Given the description of an element on the screen output the (x, y) to click on. 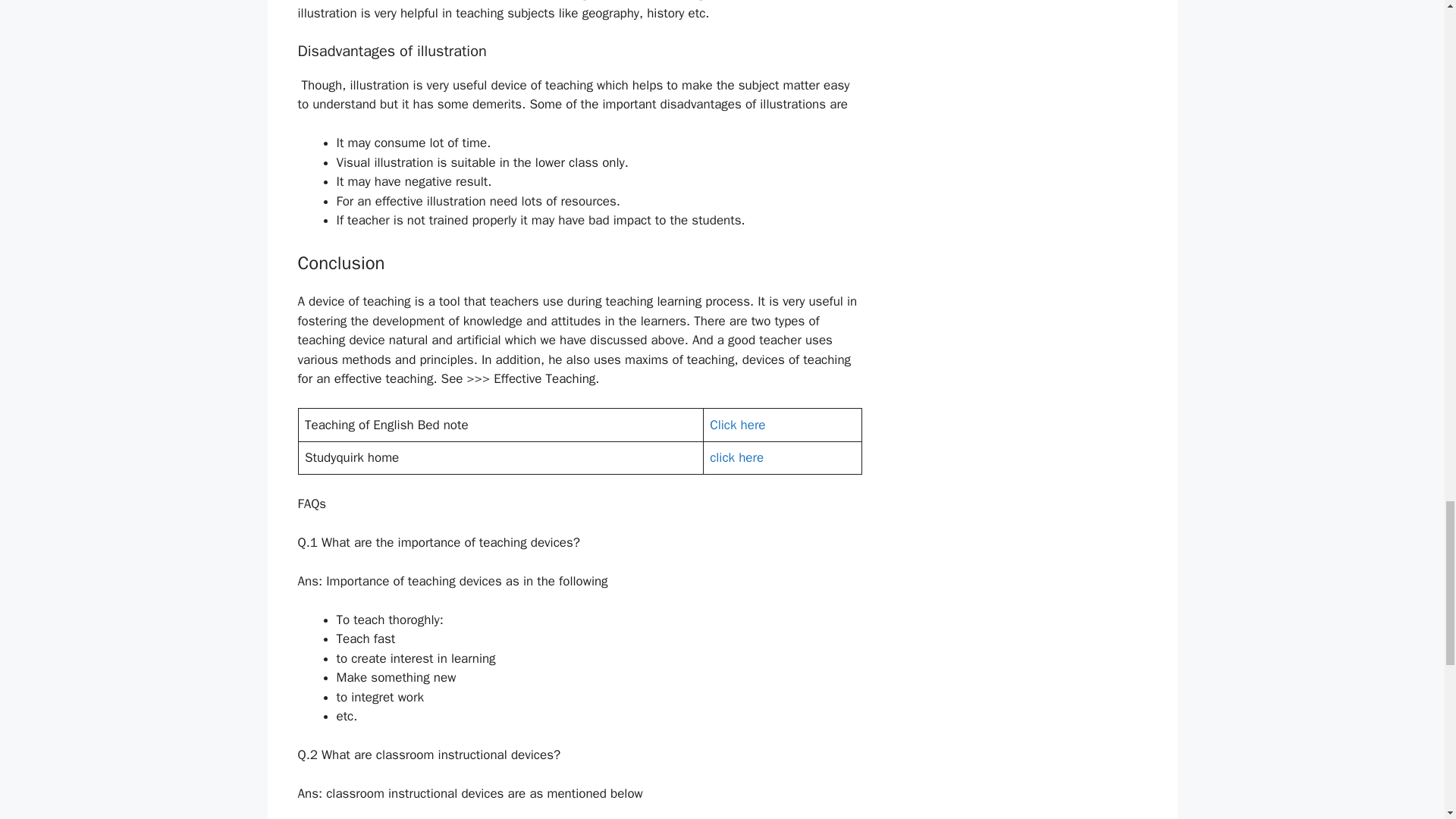
Click here (737, 424)
click here (736, 457)
